Given the description of an element on the screen output the (x, y) to click on. 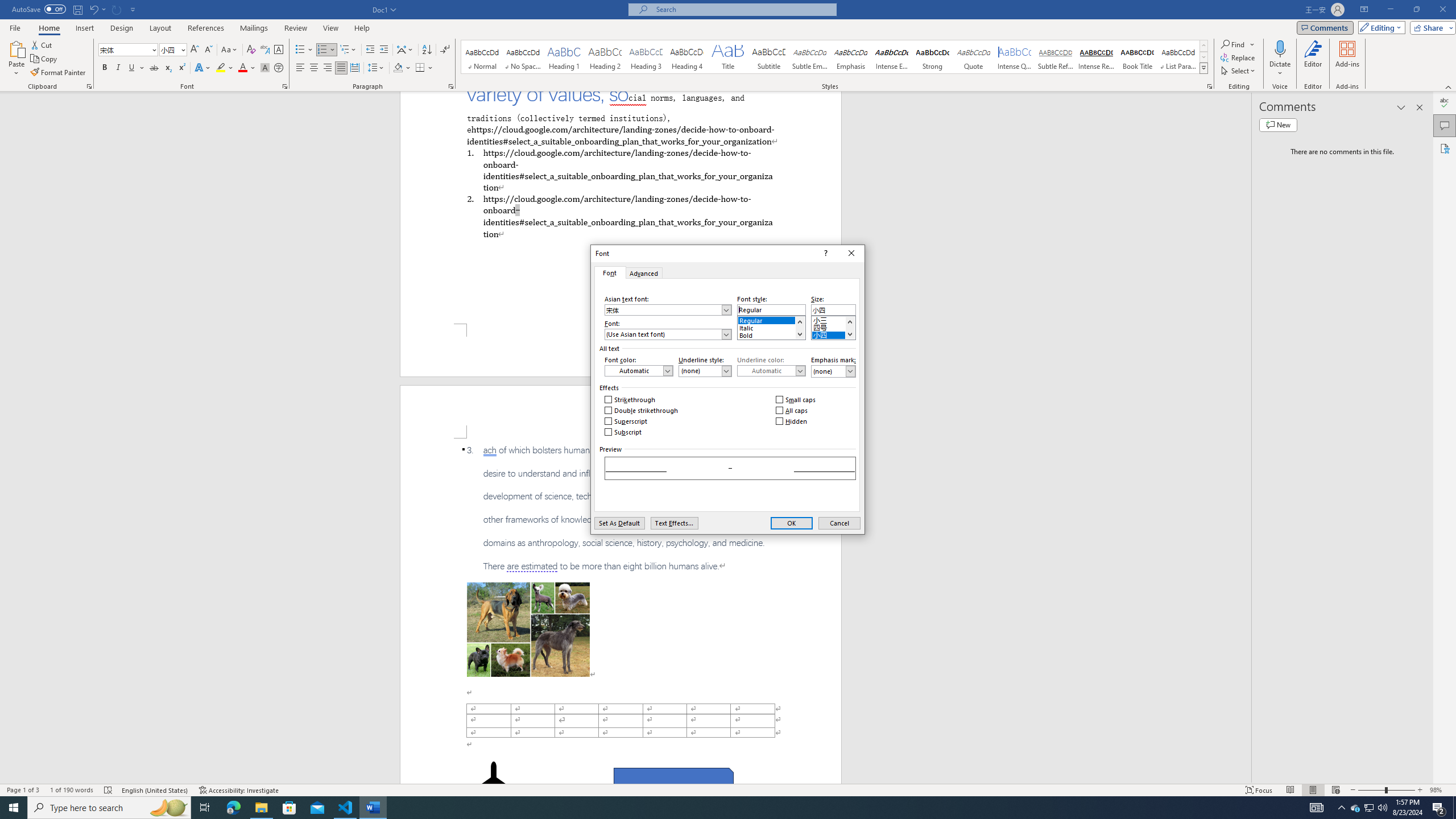
Heading 1 (564, 56)
Italic (771, 326)
View (330, 28)
Sort... (426, 49)
Start (13, 807)
Text Effects and Typography (202, 67)
Font Size (172, 49)
Copy (45, 58)
Advanced (643, 272)
Running applications (717, 807)
Italic (118, 67)
New comment (1278, 124)
Task View (204, 807)
Asian Layout (405, 49)
